Given the description of an element on the screen output the (x, y) to click on. 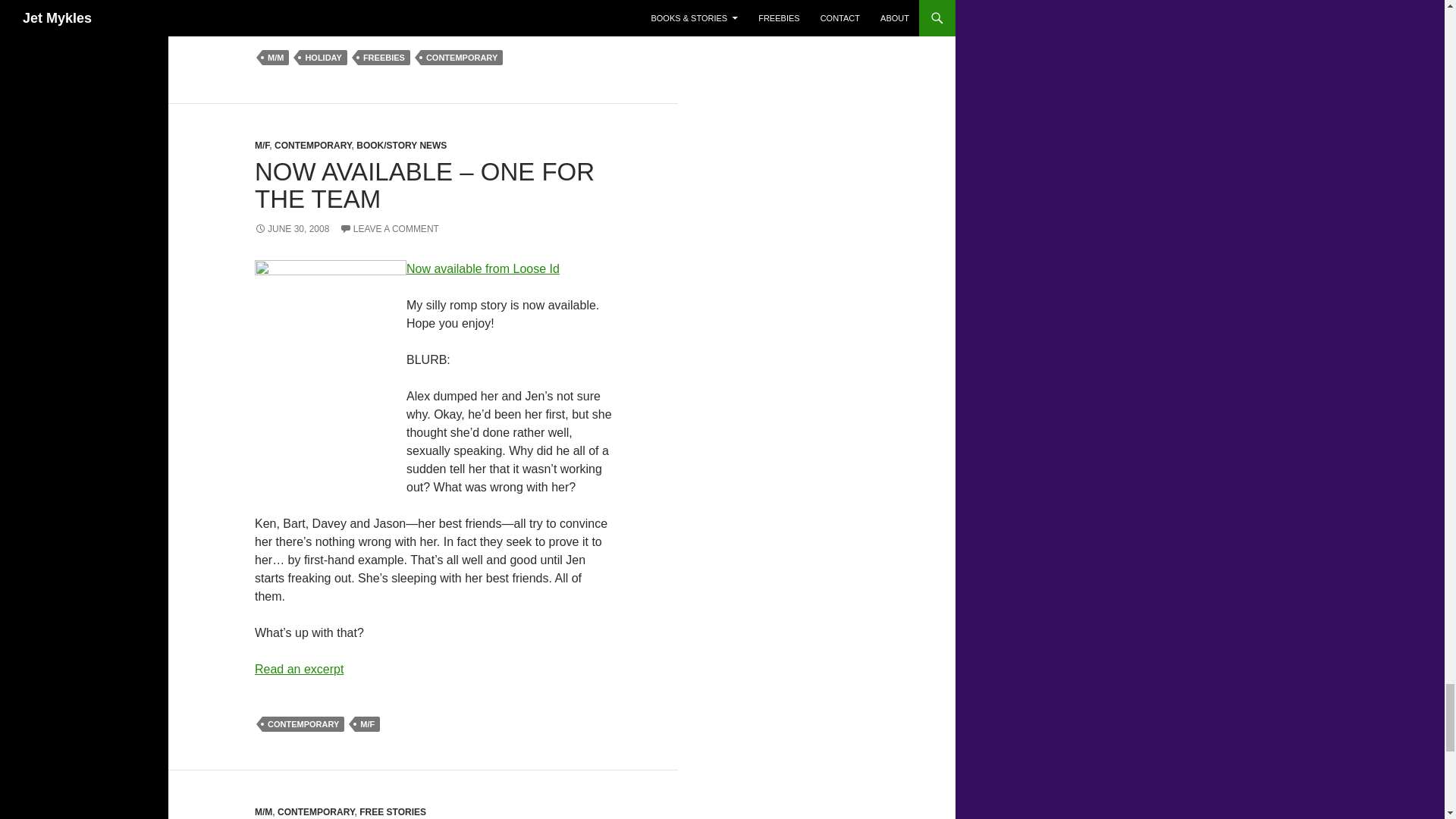
EXCERPT - One For the Team (298, 668)
Buy it at Loose Id (482, 268)
Fiction with Friction (426, 4)
